Given the description of an element on the screen output the (x, y) to click on. 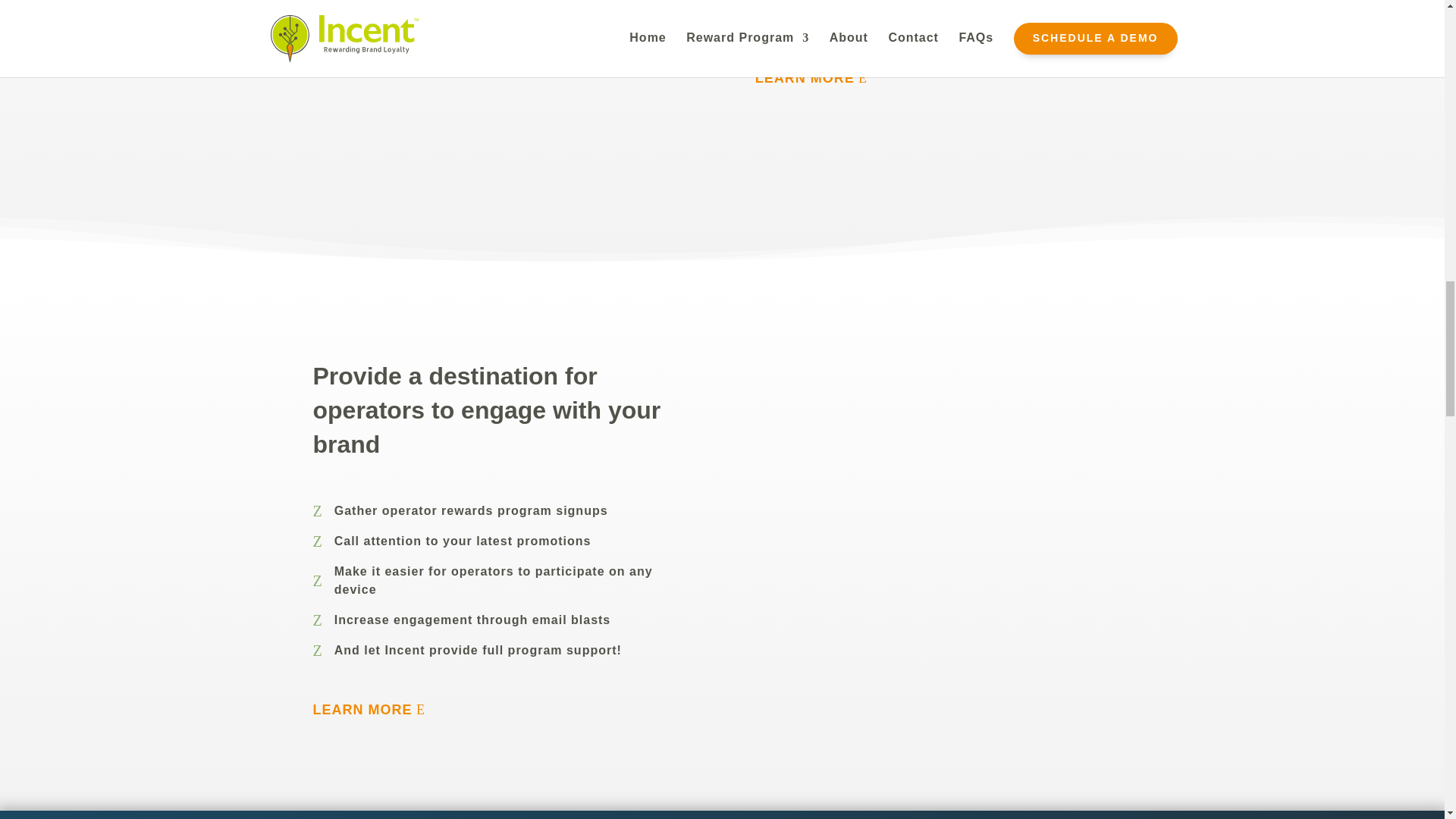
LEARN MORE (375, 710)
LEARN MORE (817, 78)
